Given the description of an element on the screen output the (x, y) to click on. 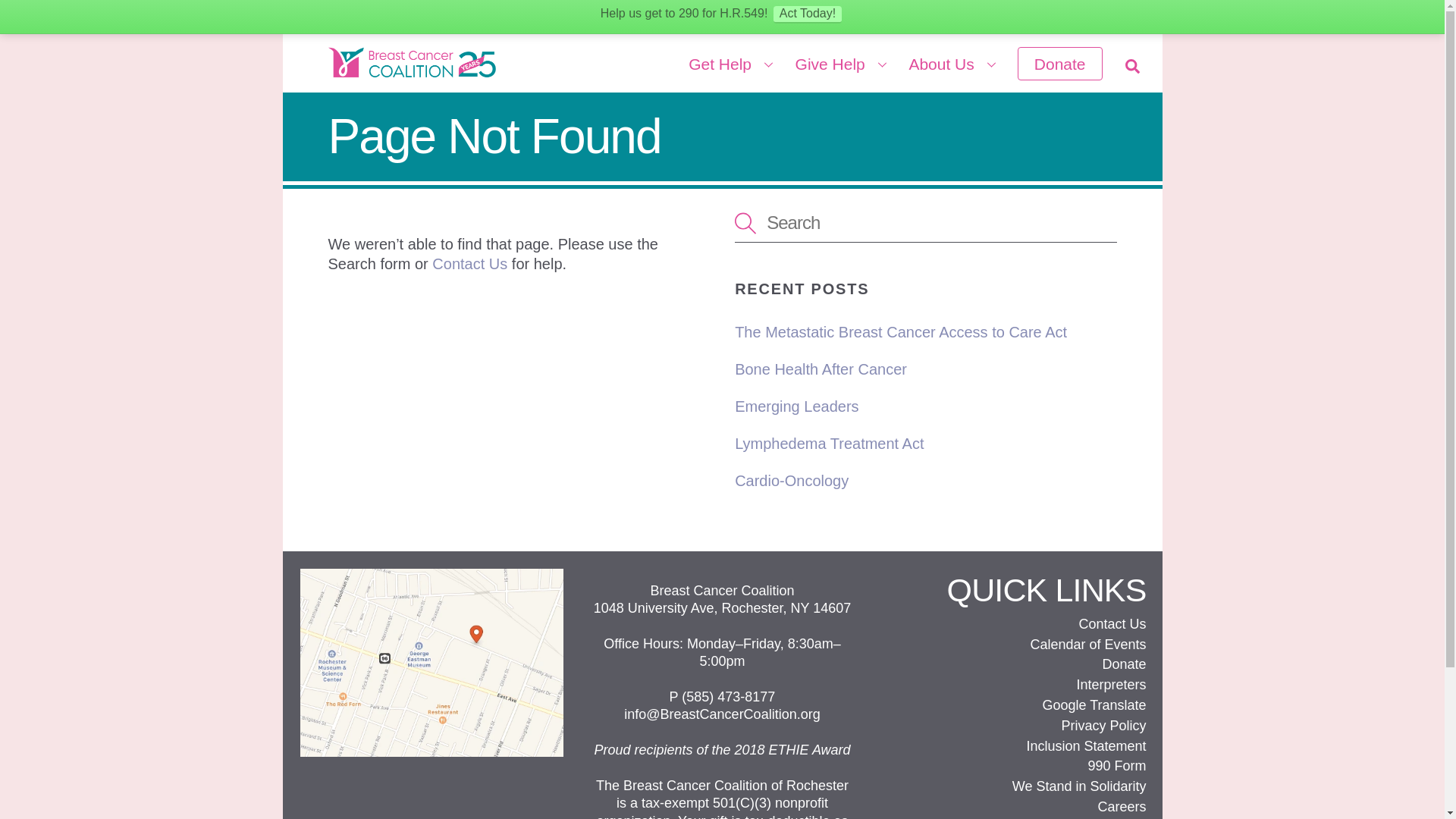
Calendar of Events (1087, 644)
Contact Us (469, 263)
Cardio-Oncology (721, 59)
Search (791, 480)
Interpreters (925, 222)
Bone Health After Cancer (1110, 684)
The Metastatic Breast Cancer Access to Care Act (821, 369)
Emerging Leaders (901, 331)
Breast Cancer Coalition of Rochester (797, 406)
